Given the description of an element on the screen output the (x, y) to click on. 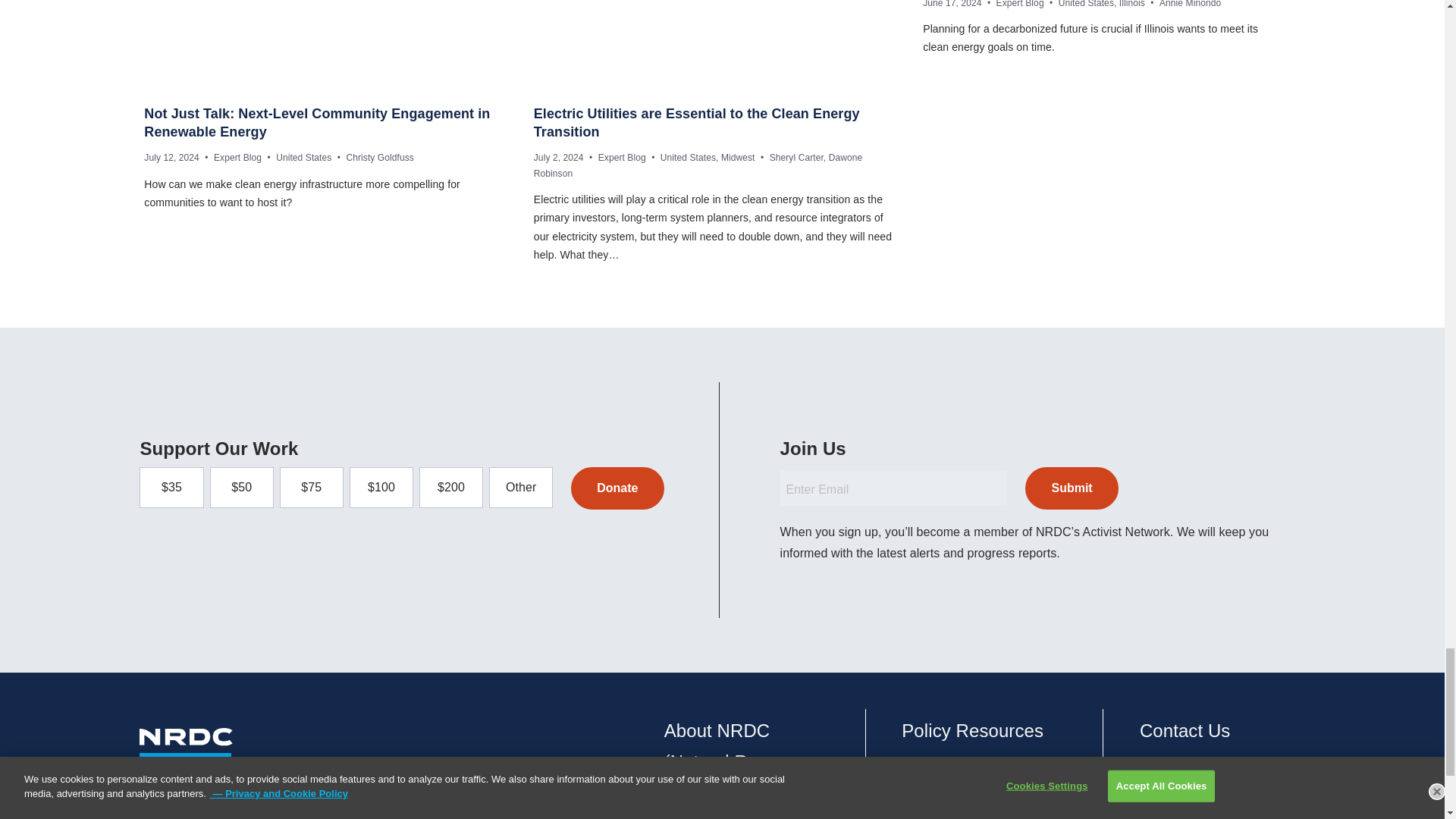
NRDC Logo (187, 773)
